Given the description of an element on the screen output the (x, y) to click on. 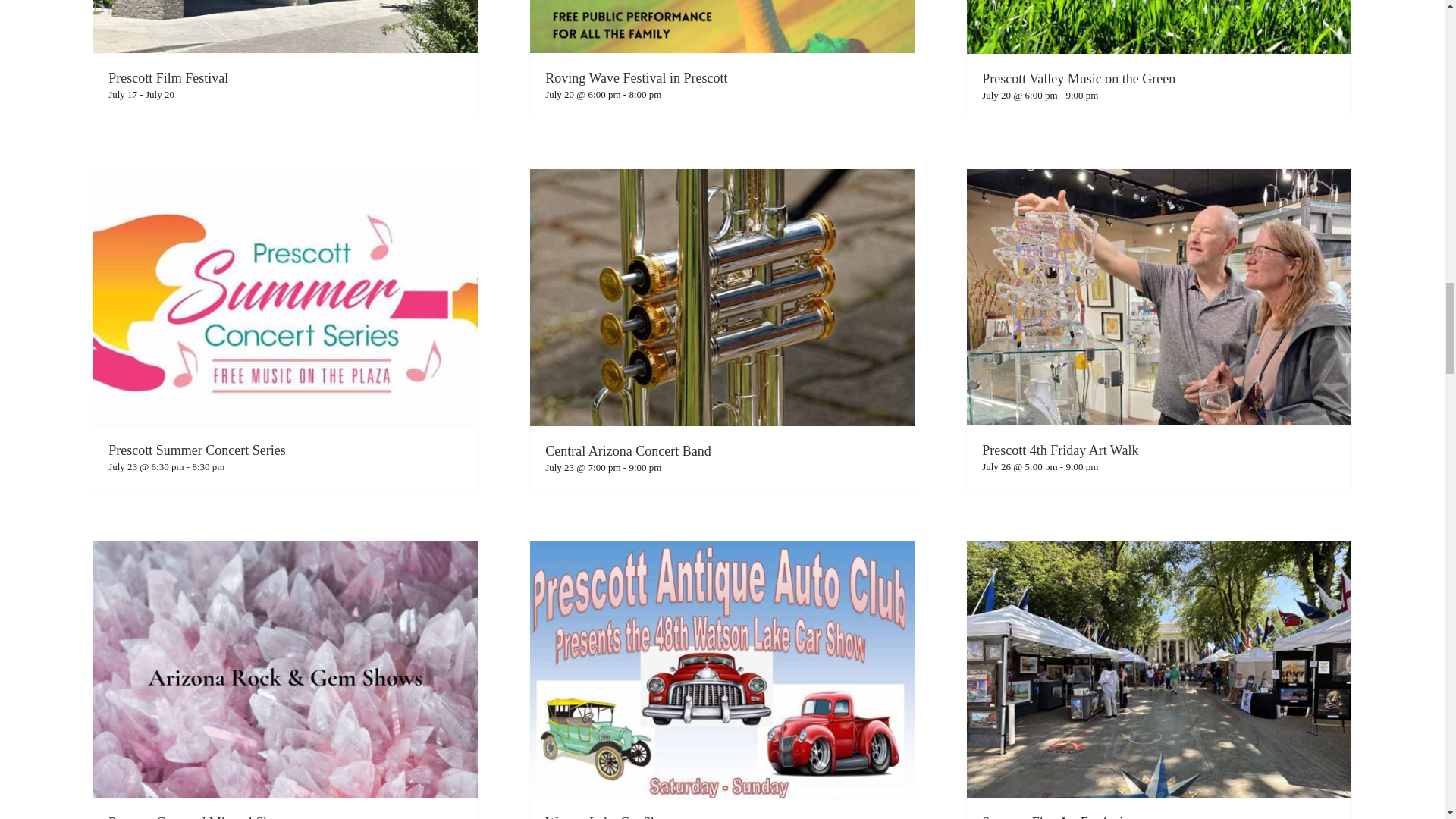
Prescott Summer Concert Series (196, 450)
Summer Fine Art Festival (1052, 816)
Prescott Gem and Mineral Show (196, 816)
Roving Wave Festival in Prescott (635, 77)
Watson Lake Car Show (609, 816)
Prescott 4th Friday Art Walk (1059, 450)
Central Arizona Concert Band (627, 450)
Prescott Film Festival (167, 77)
Prescott Valley Music on the Green (1077, 78)
